Given the description of an element on the screen output the (x, y) to click on. 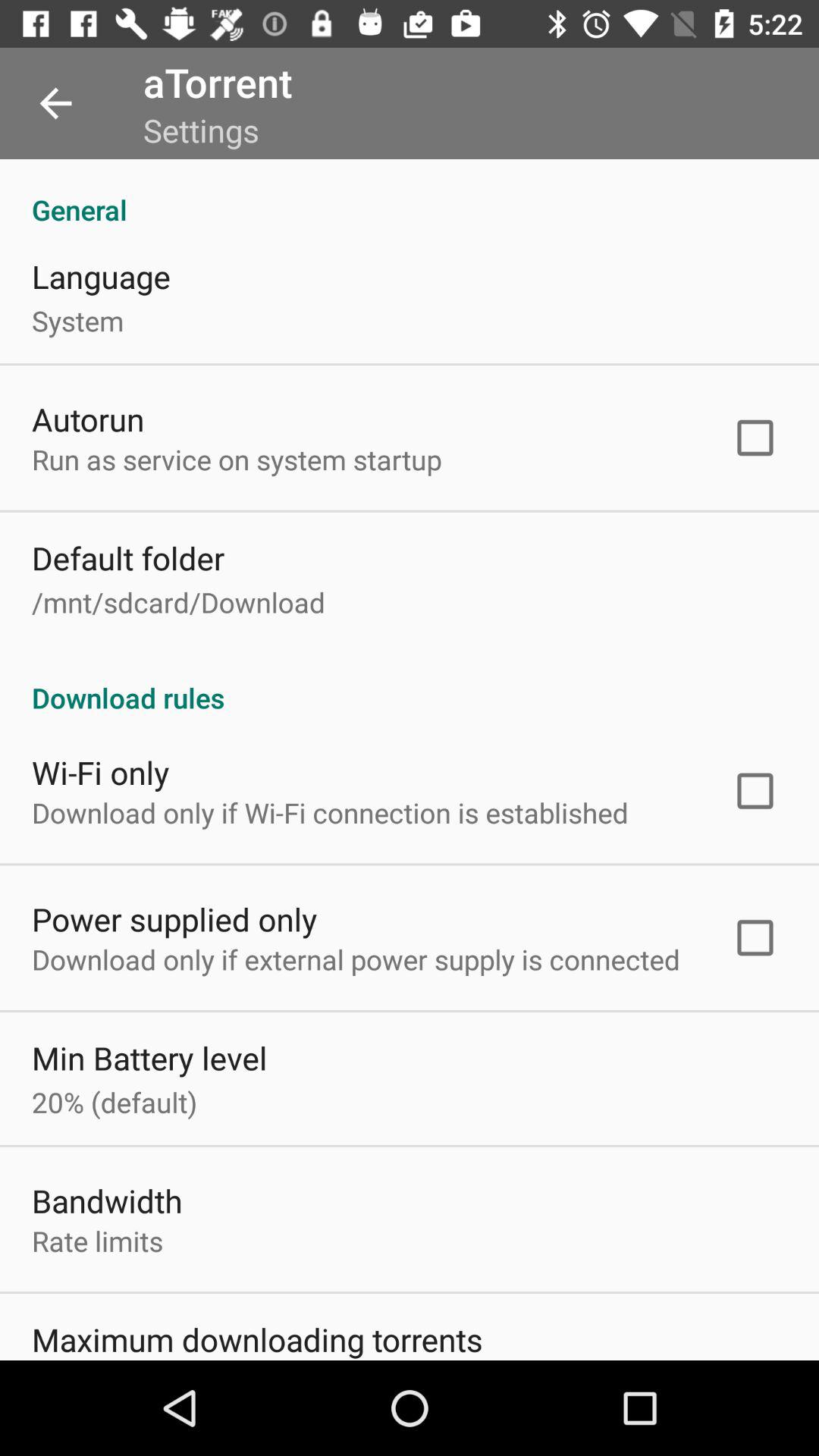
click the item below the download only if icon (149, 1057)
